Given the description of an element on the screen output the (x, y) to click on. 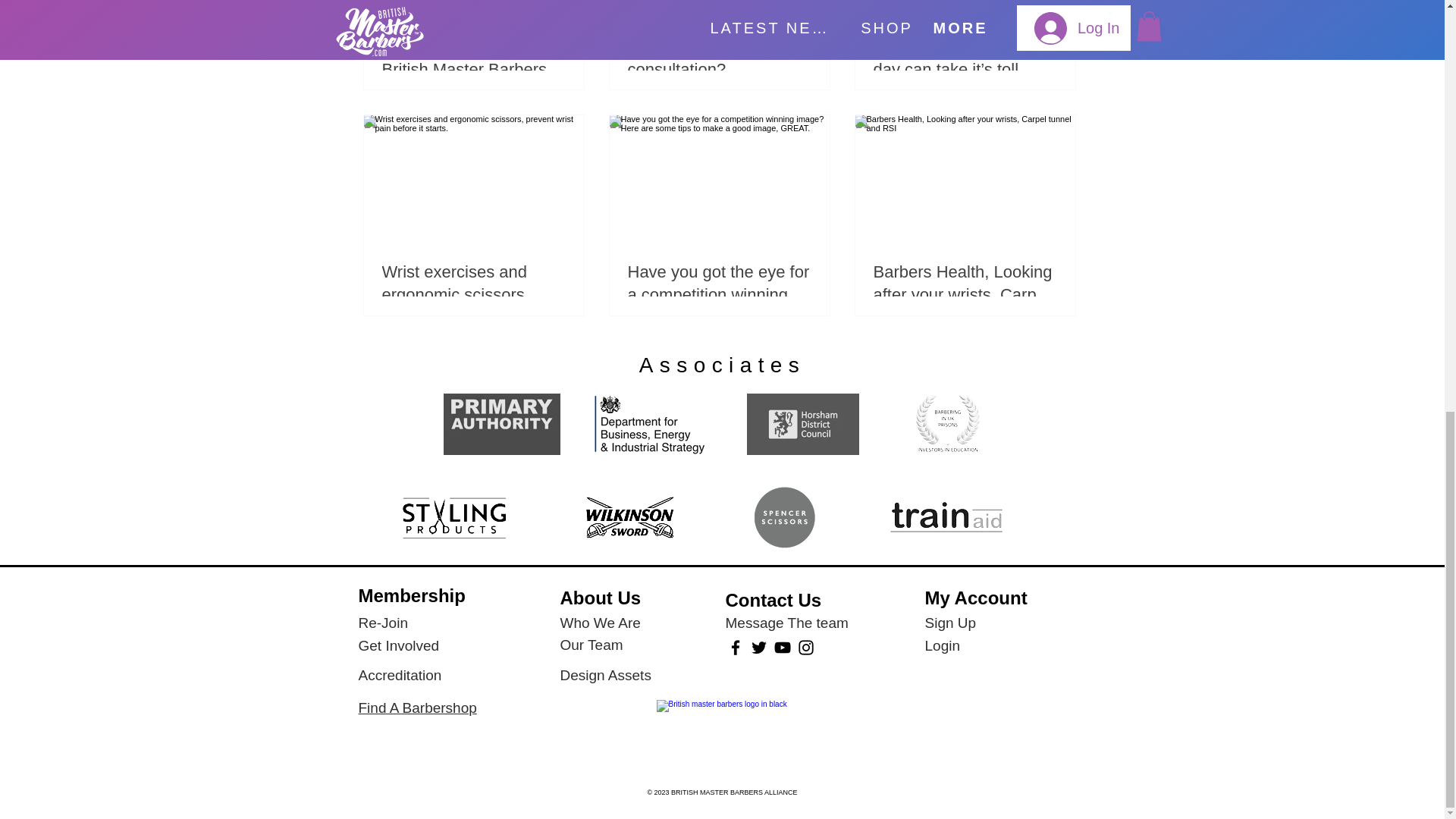
How important is a good consultation? (718, 58)
british-masters-logo-black.png (721, 736)
Find A Barbershop (417, 706)
Message The team (786, 621)
Our Team (591, 644)
Re-Join (382, 621)
Get Involved (398, 644)
